Given the description of an element on the screen output the (x, y) to click on. 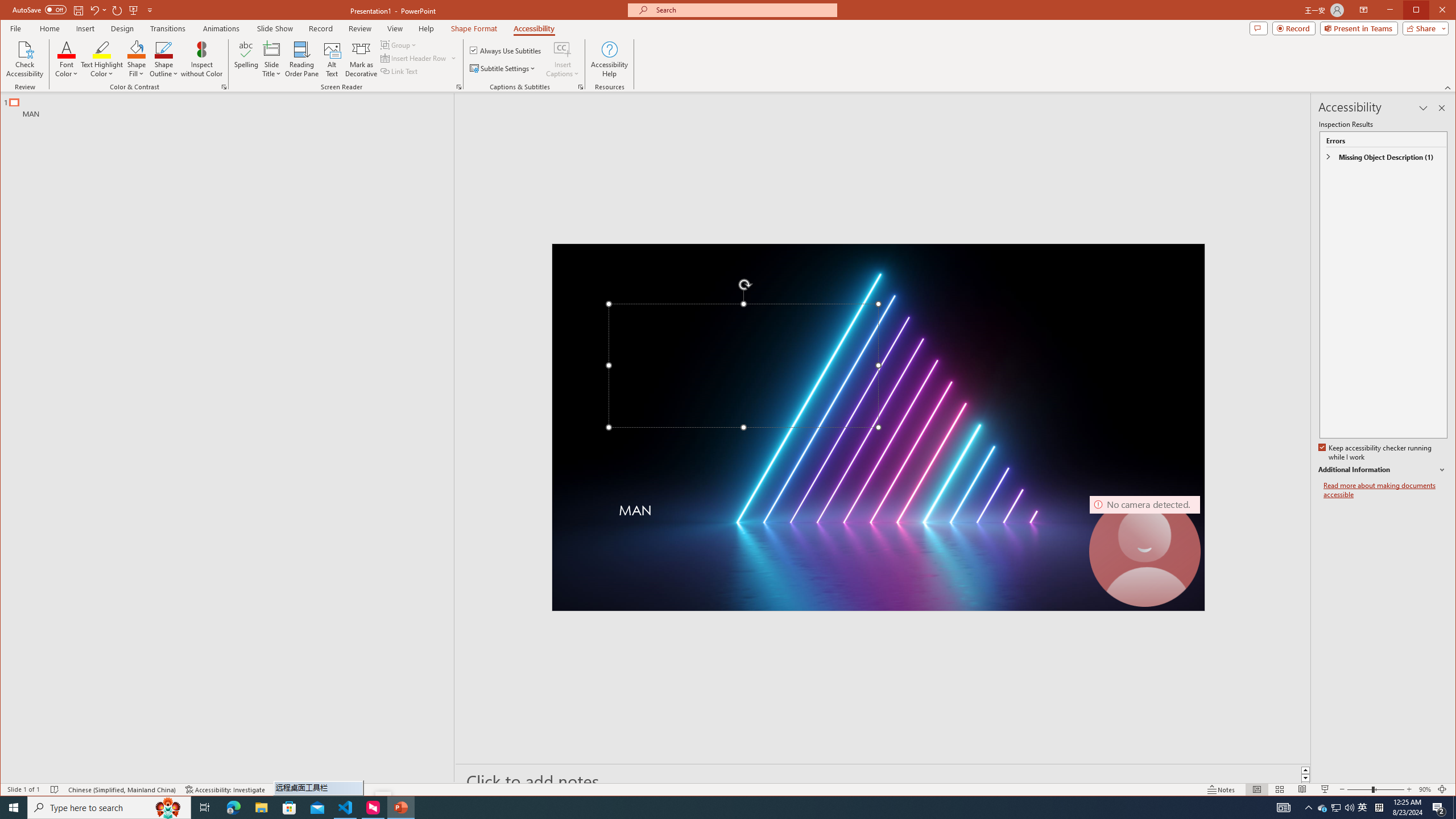
Insert Captions (562, 48)
Mark as Decorative (360, 59)
